Given the description of an element on the screen output the (x, y) to click on. 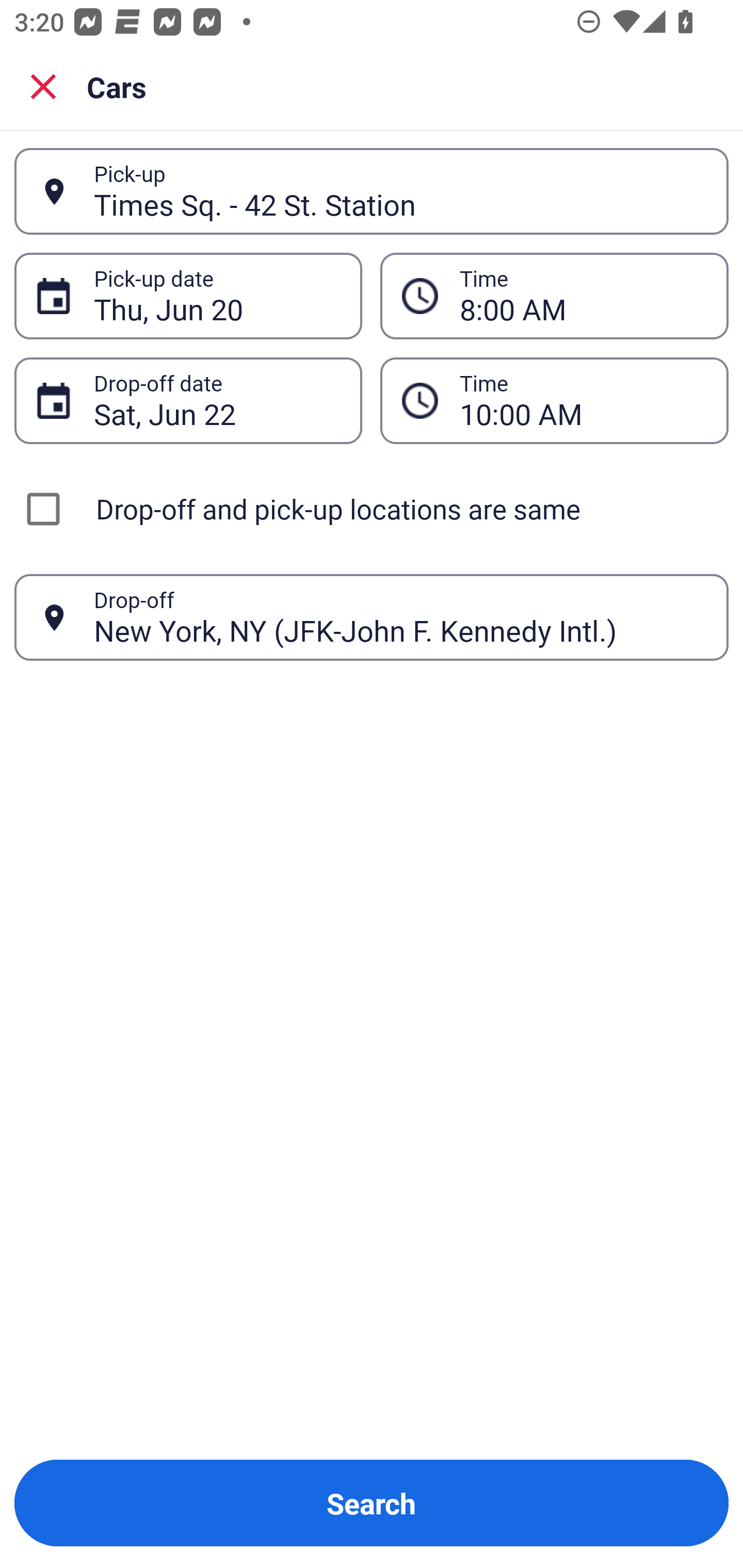
Close search screen (43, 86)
Times Sq. - 42 St. Station Pick-up (371, 191)
Times Sq. - 42 St. Station (399, 191)
Thu, Jun 20 Pick-up date (188, 295)
8:00 AM (554, 295)
Thu, Jun 20 (216, 296)
8:00 AM (582, 296)
Sat, Jun 22 Drop-off date (188, 400)
10:00 AM (554, 400)
Sat, Jun 22 (216, 400)
10:00 AM (582, 400)
Drop-off and pick-up locations are same (371, 508)
New York, NY (JFK-John F. Kennedy Intl.) Drop-off (371, 616)
New York, NY (JFK-John F. Kennedy Intl.) (399, 616)
Search Button Search (371, 1502)
